Given the description of an element on the screen output the (x, y) to click on. 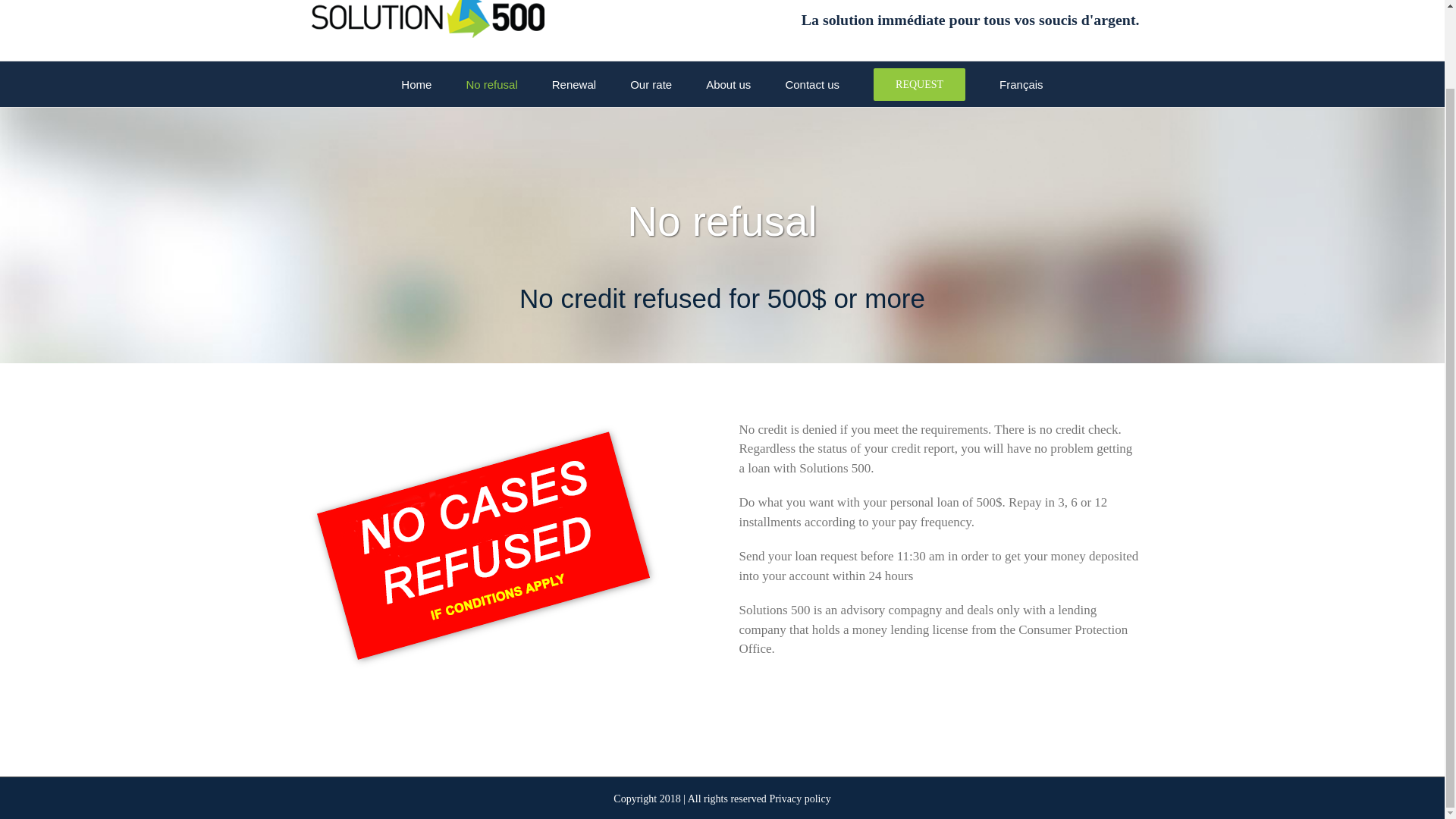
Our rate (650, 84)
Contact us (812, 84)
About us (728, 84)
Renewal (573, 84)
REQUEST (919, 84)
No refusal (490, 84)
Privacy policy (798, 798)
